Given the description of an element on the screen output the (x, y) to click on. 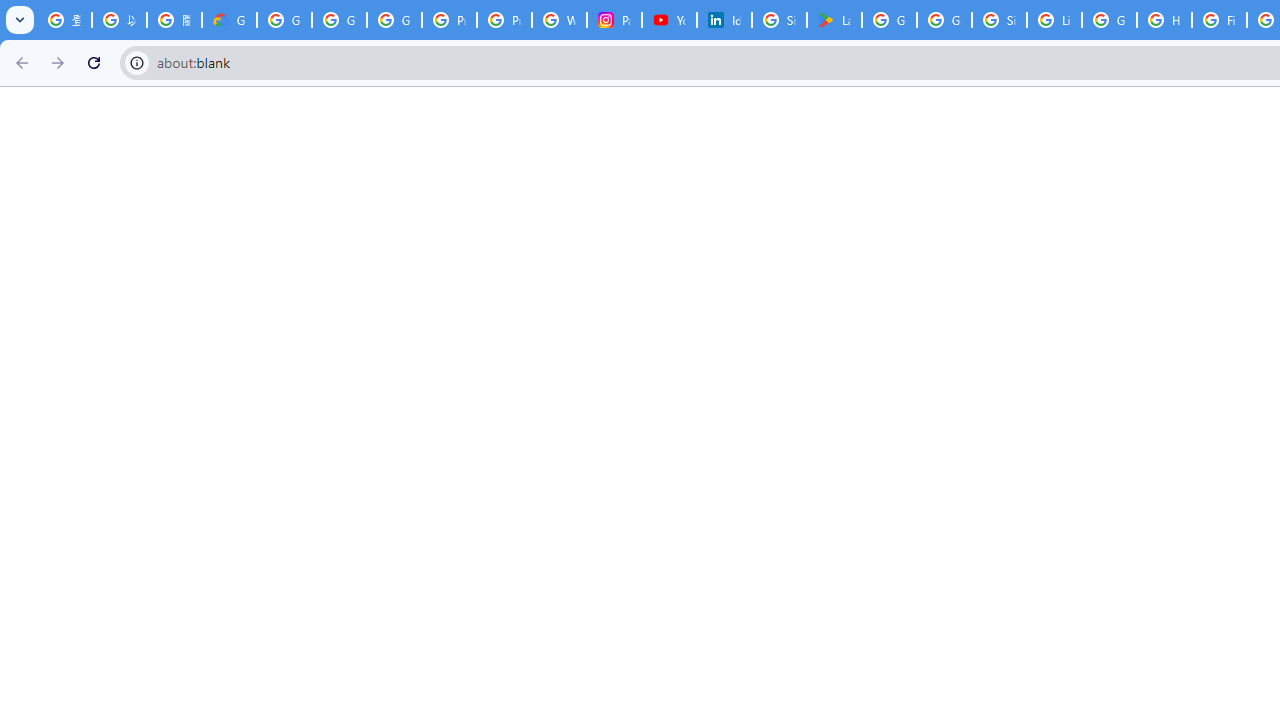
Privacy Help Center - Policies Help (504, 20)
Google Workspace - Specific Terms (943, 20)
